Given the description of an element on the screen output the (x, y) to click on. 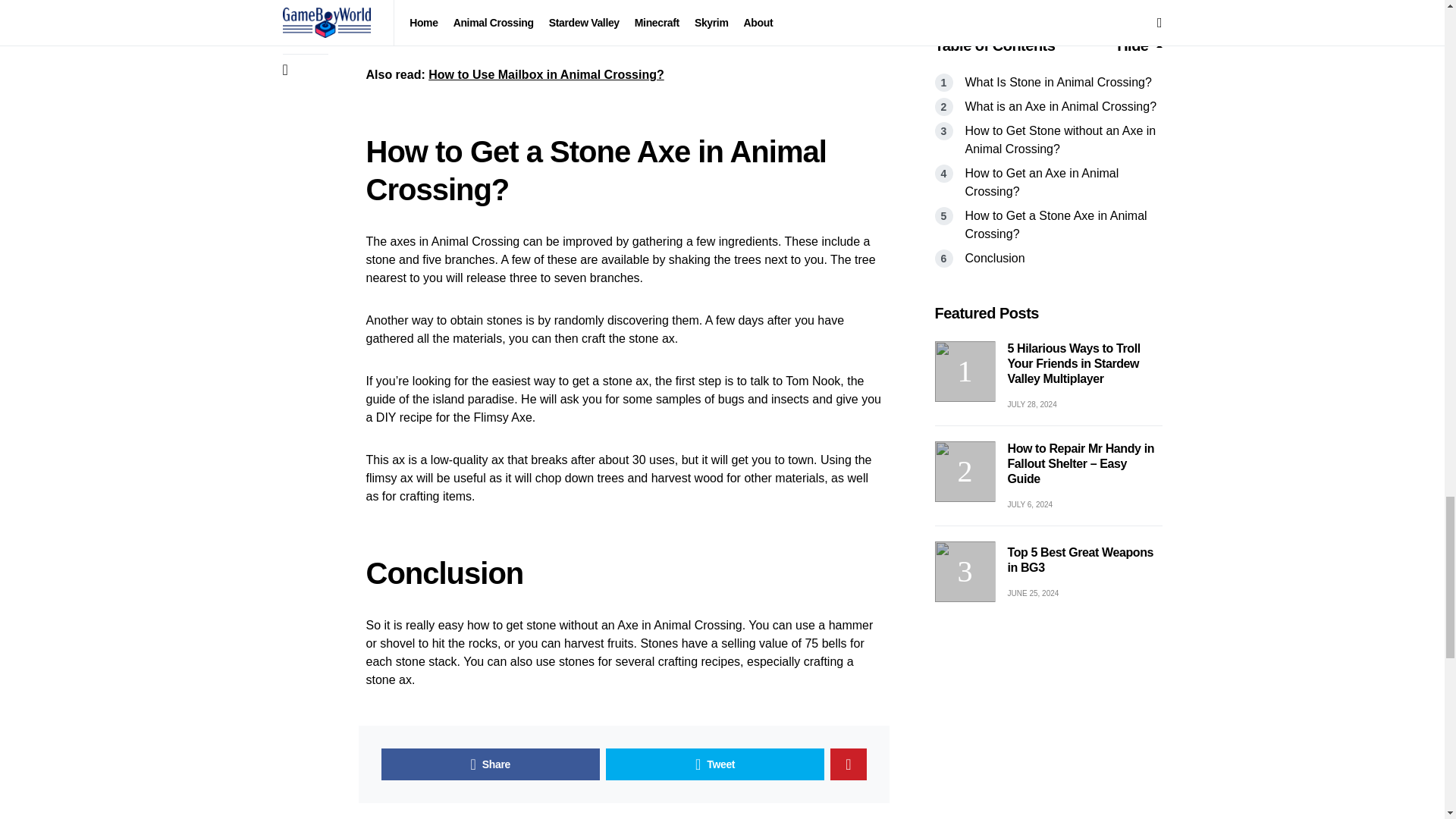
How to Use Mailbox in Animal Crossing? (545, 74)
Share (489, 764)
